Given the description of an element on the screen output the (x, y) to click on. 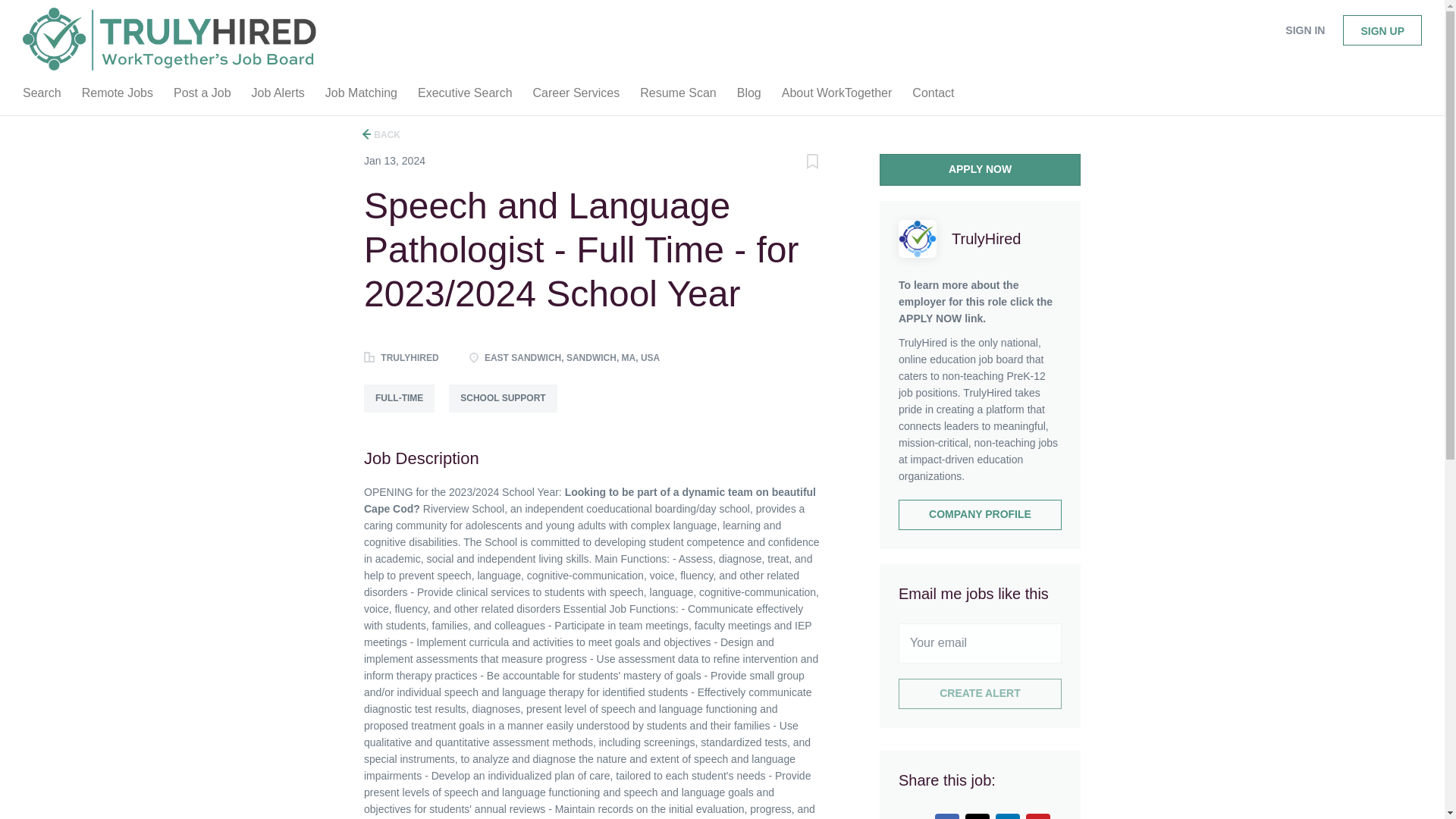
Search (41, 96)
Career Services (576, 96)
About WorkTogether (836, 96)
SIGN UP (1382, 30)
Job Matching (360, 96)
Resume Scan (677, 96)
SIGN IN (1305, 30)
Remote Jobs (117, 96)
Create alert (979, 693)
Blog (748, 96)
Executive Search (464, 96)
COMPANY PROFILE (979, 514)
Post a Job (201, 96)
Contact (932, 96)
Create alert (979, 693)
